Given the description of an element on the screen output the (x, y) to click on. 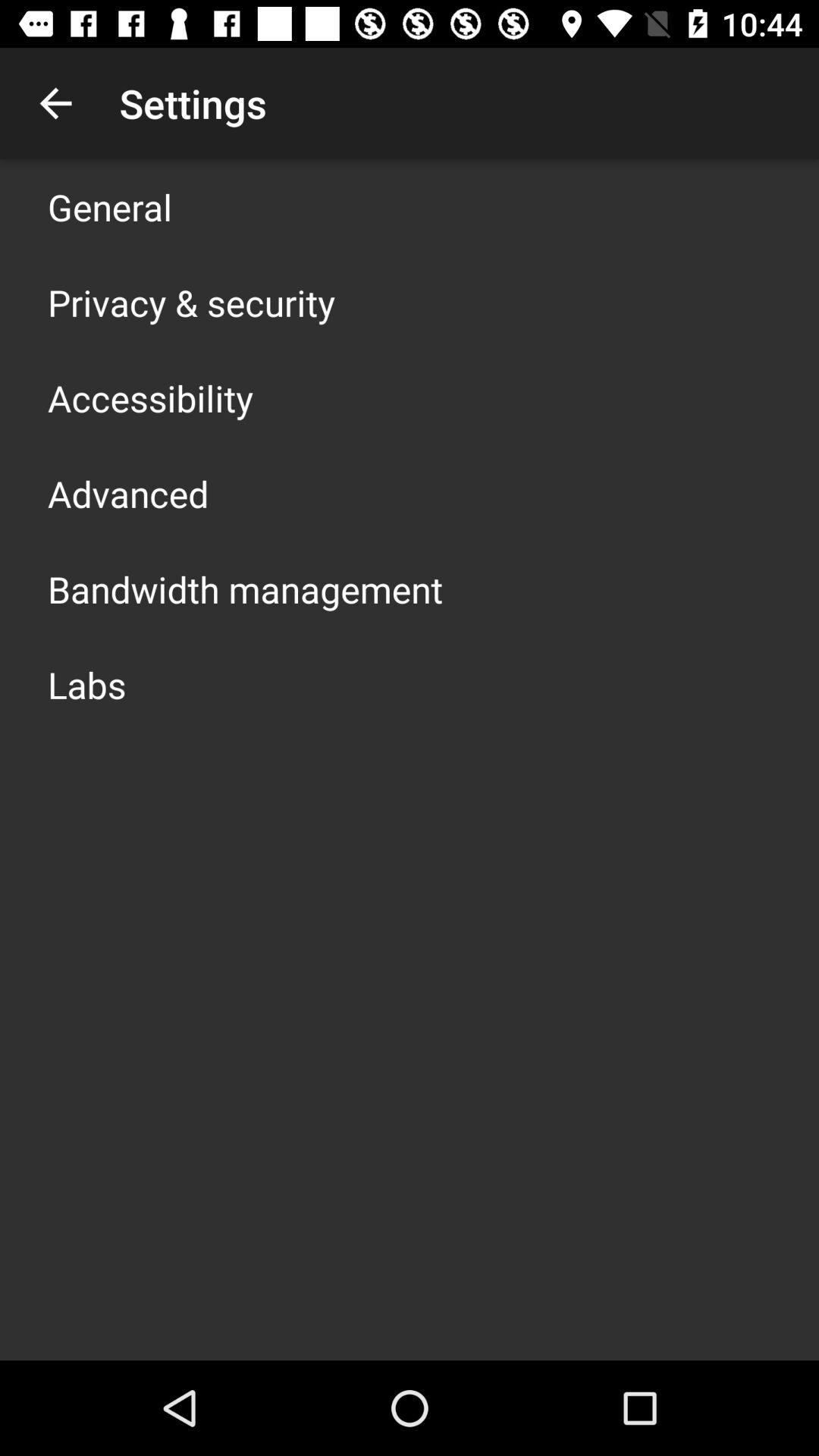
select icon above privacy & security app (109, 206)
